Given the description of an element on the screen output the (x, y) to click on. 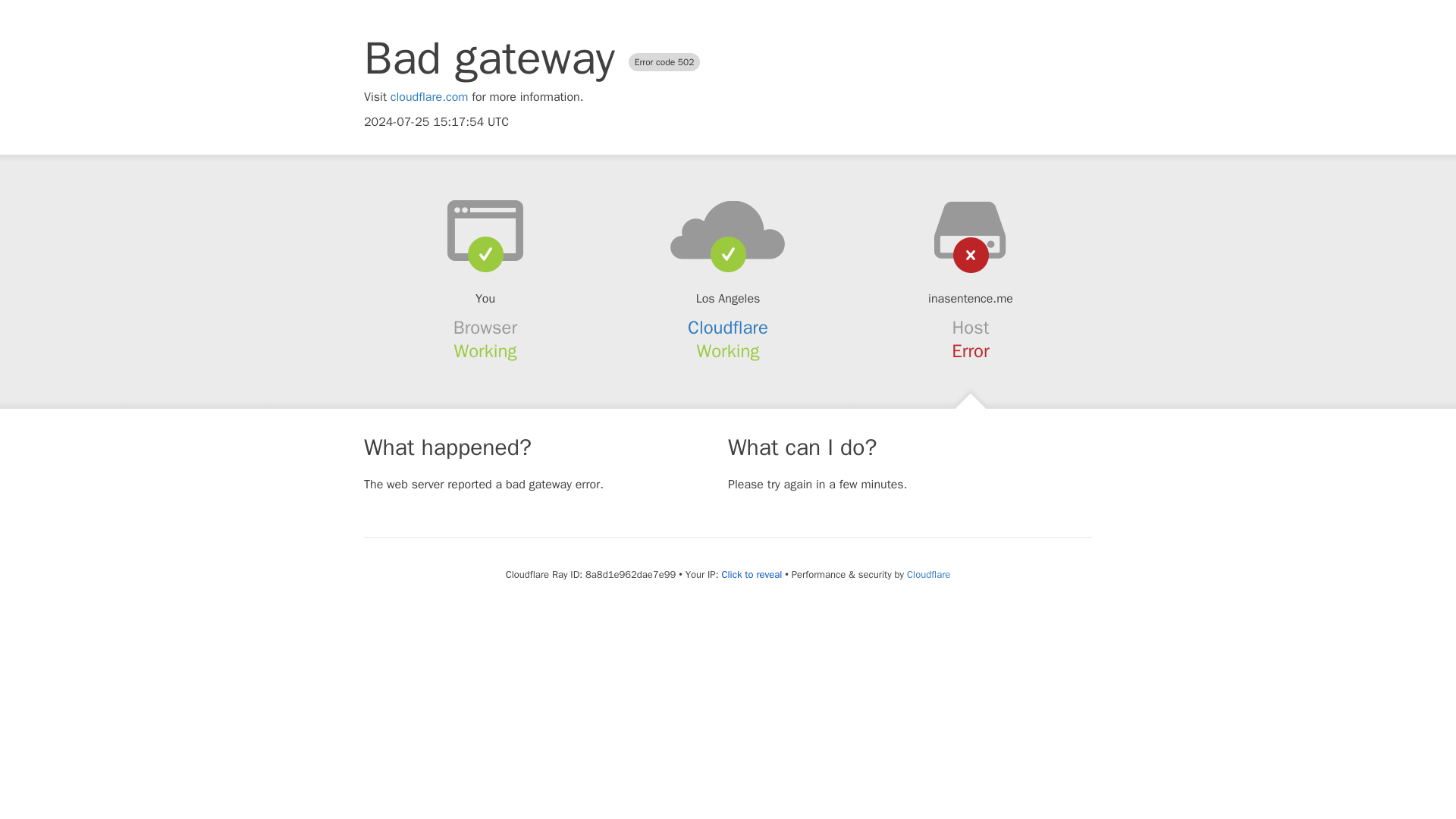
Click to reveal (750, 574)
cloudflare.com (429, 96)
Cloudflare (727, 327)
Cloudflare (928, 574)
